Given the description of an element on the screen output the (x, y) to click on. 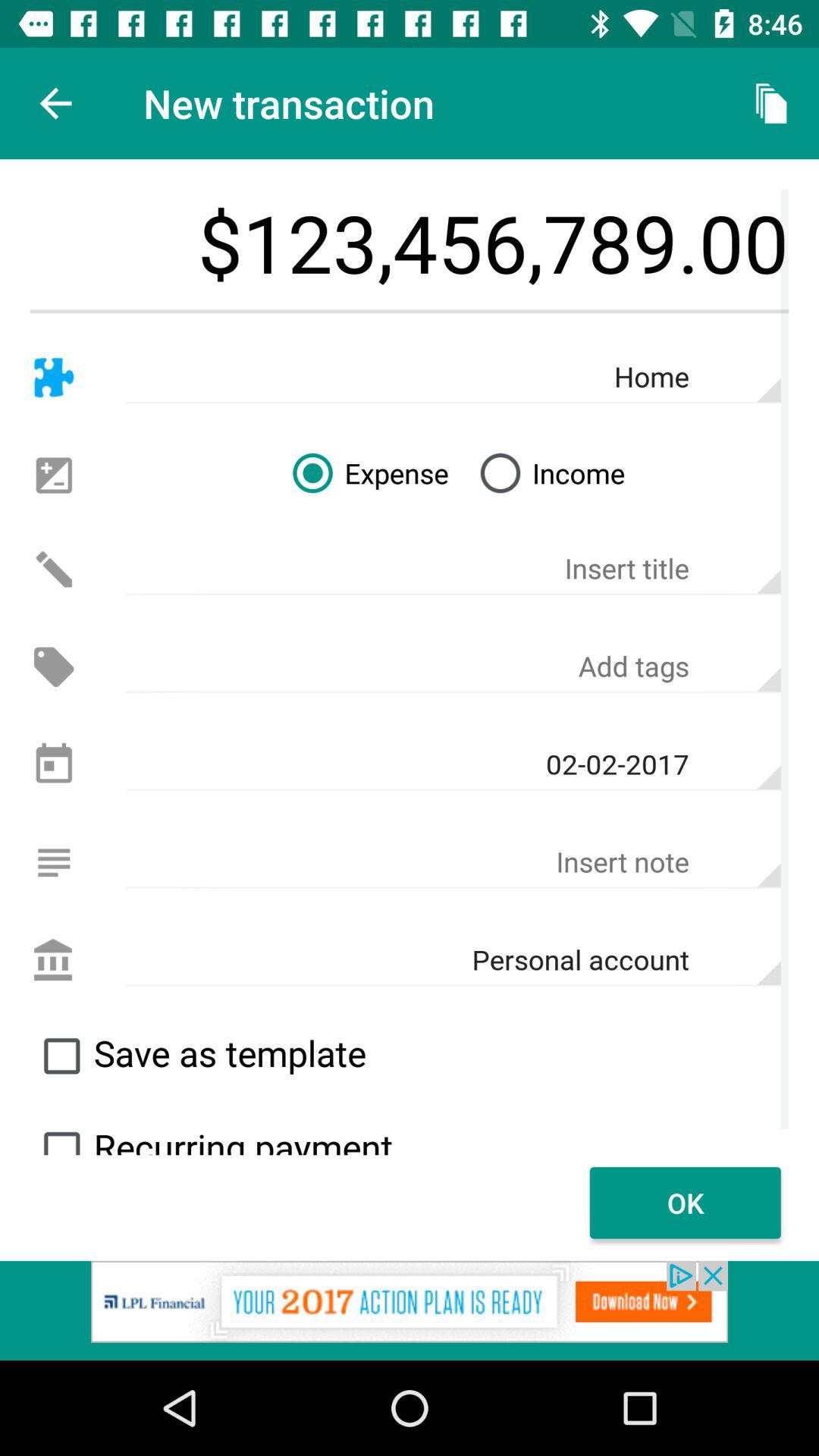
select date (53, 764)
